Given the description of an element on the screen output the (x, y) to click on. 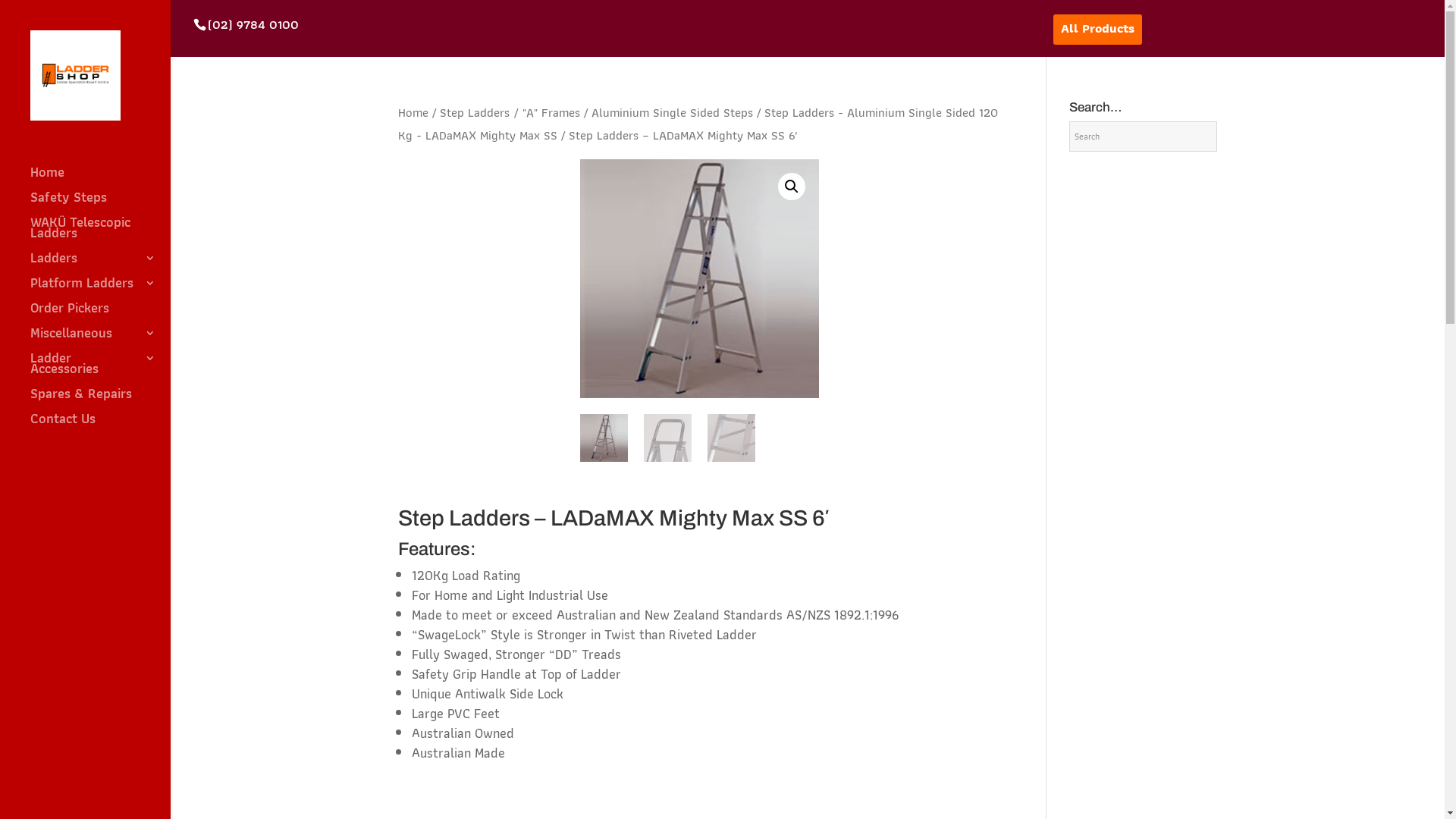
Order Pickers Element type: text (100, 314)
LADaMAX-Mighty-Max-SS-8-2 Element type: hover (699, 278)
Miscellaneous Element type: text (100, 339)
Platform Ladders Element type: text (100, 289)
Spares & Repairs Element type: text (100, 400)
Step Ladders / "A" Frames Element type: text (509, 112)
Ladders Element type: text (100, 264)
Safety Steps Element type: text (100, 203)
Home Element type: text (413, 112)
Aluminium Single Sided Steps Element type: text (672, 112)
Ladder Accessories Element type: text (100, 370)
Contact Us Element type: text (100, 425)
Home Element type: text (100, 178)
All Products Element type: text (1097, 29)
